Given the description of an element on the screen output the (x, y) to click on. 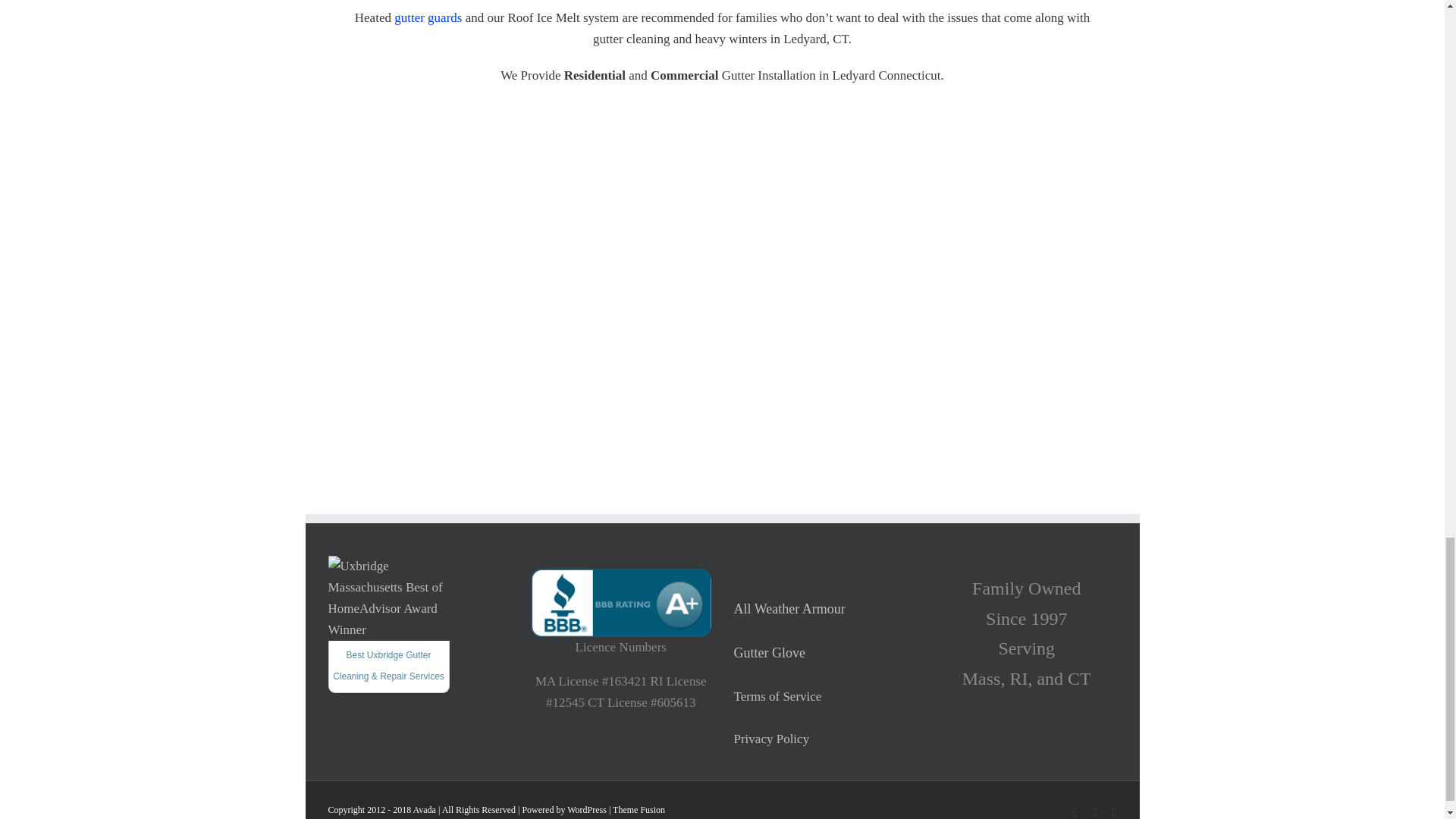
gutter guards (427, 17)
